Given the description of an element on the screen output the (x, y) to click on. 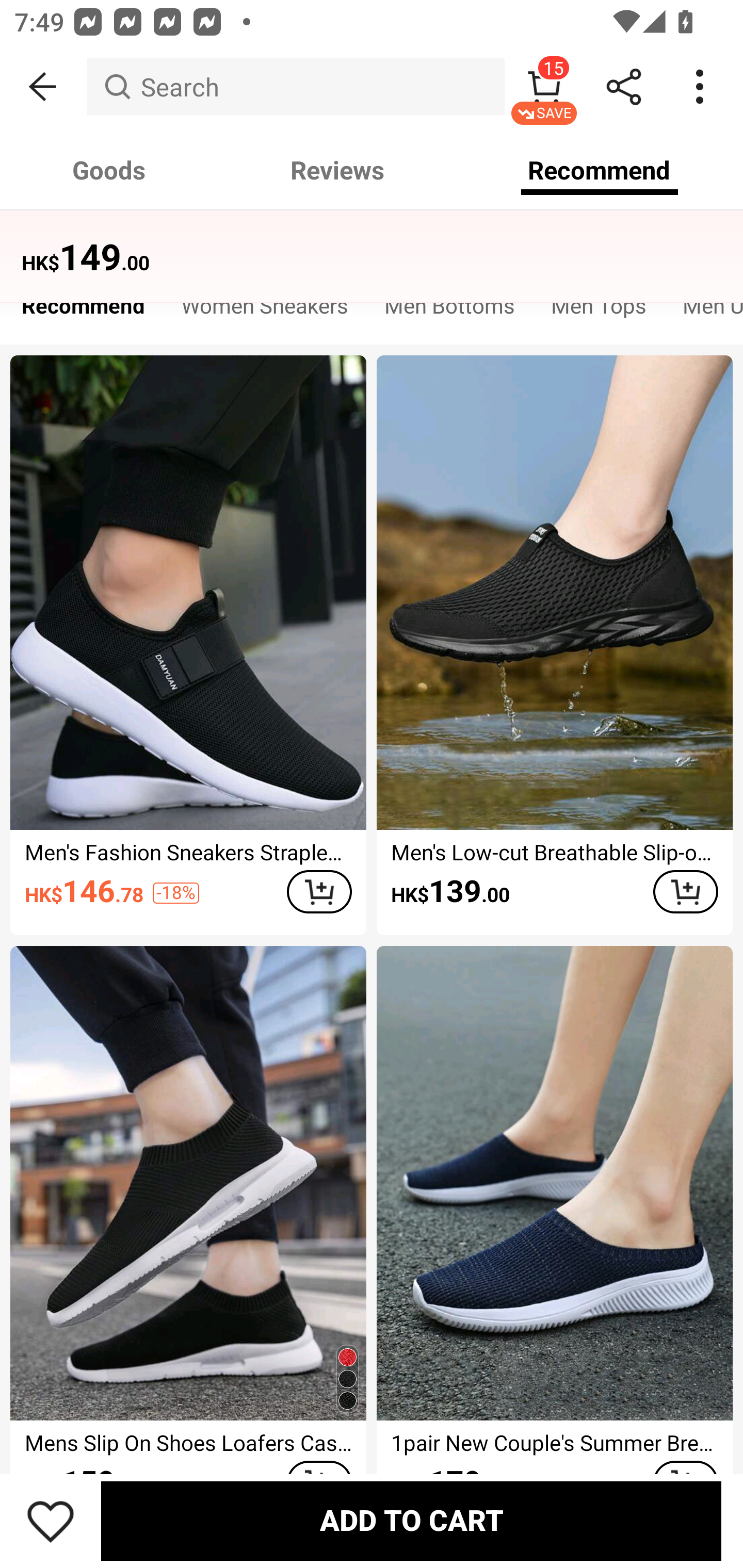
BACK (43, 86)
15 SAVE (543, 87)
Search (295, 87)
Goods (109, 170)
Reviews (337, 170)
Recommend (599, 170)
You May Also Like (371, 244)
Recommend (82, 310)
Women Sneakers (264, 310)
Men Bottoms (449, 310)
Men Tops (598, 310)
Men Underwear Accessories (703, 310)
ADD TO CART (319, 892)
ADD TO CART (685, 892)
ADD TO CART (411, 1520)
Save (50, 1520)
